Given the description of an element on the screen output the (x, y) to click on. 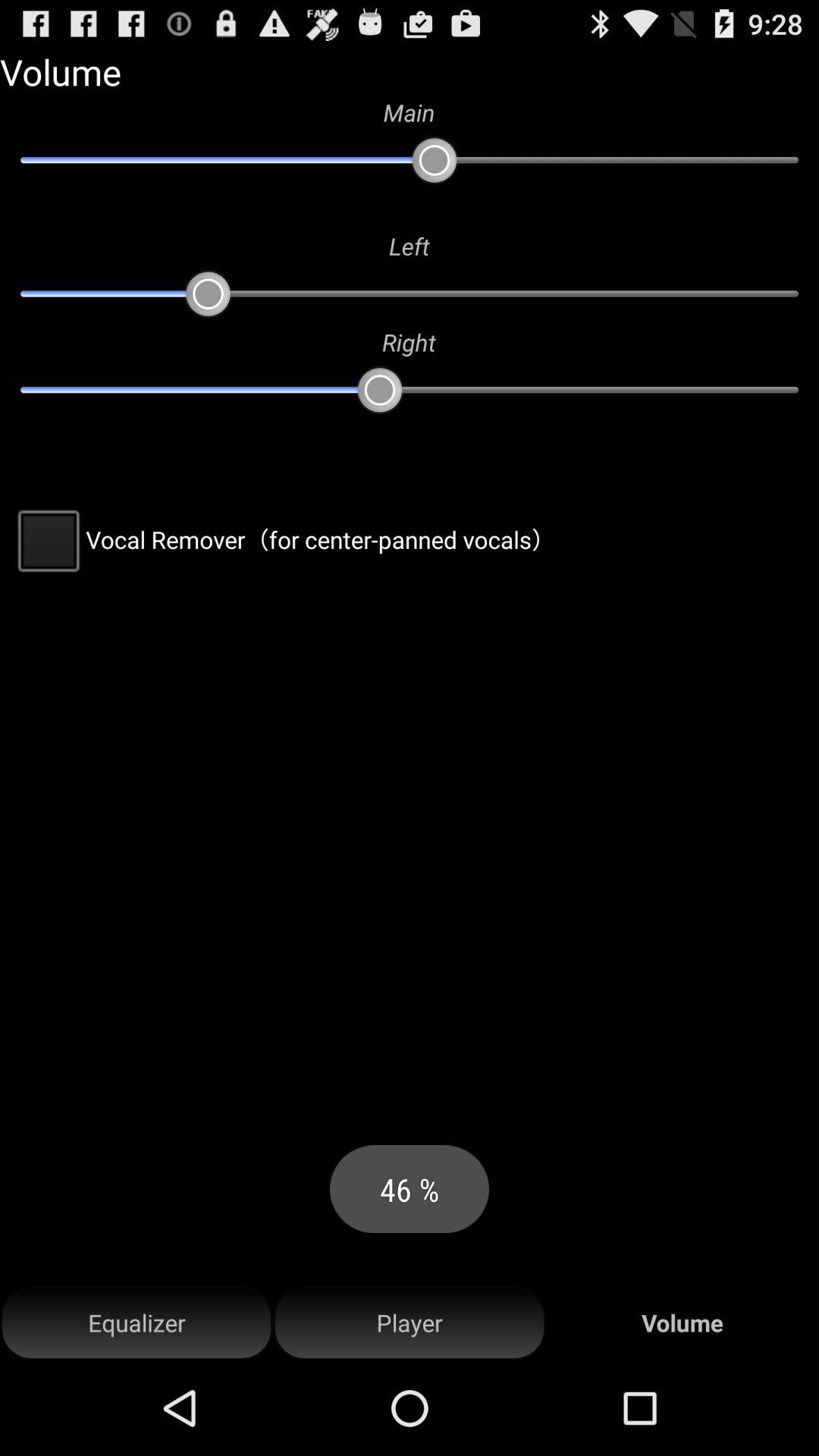
click item to the left of volume (409, 1323)
